Given the description of an element on the screen output the (x, y) to click on. 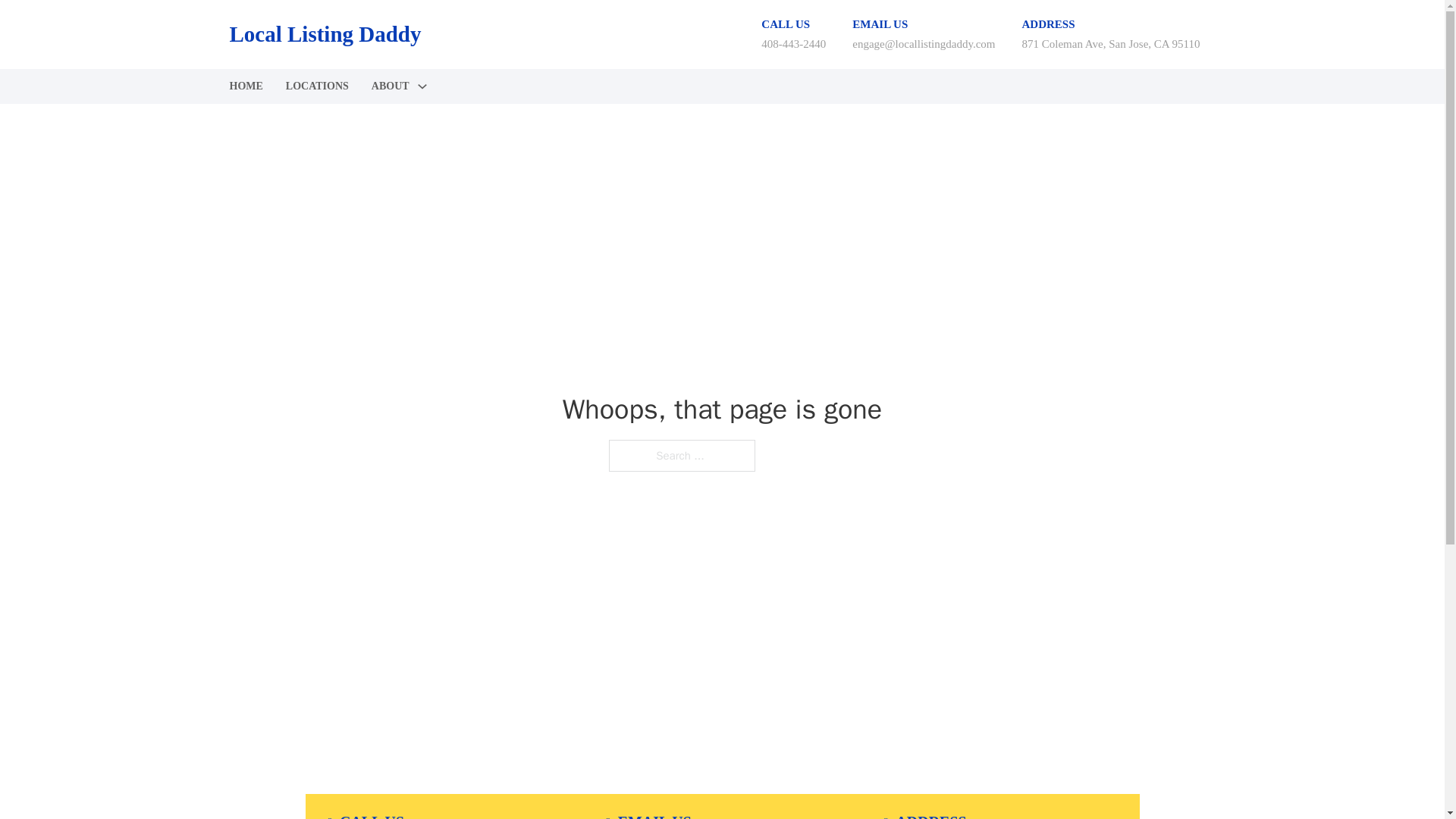
HOME (245, 85)
LOCATIONS (317, 85)
408-443-2440 (793, 43)
Local Listing Daddy (324, 34)
